Given the description of an element on the screen output the (x, y) to click on. 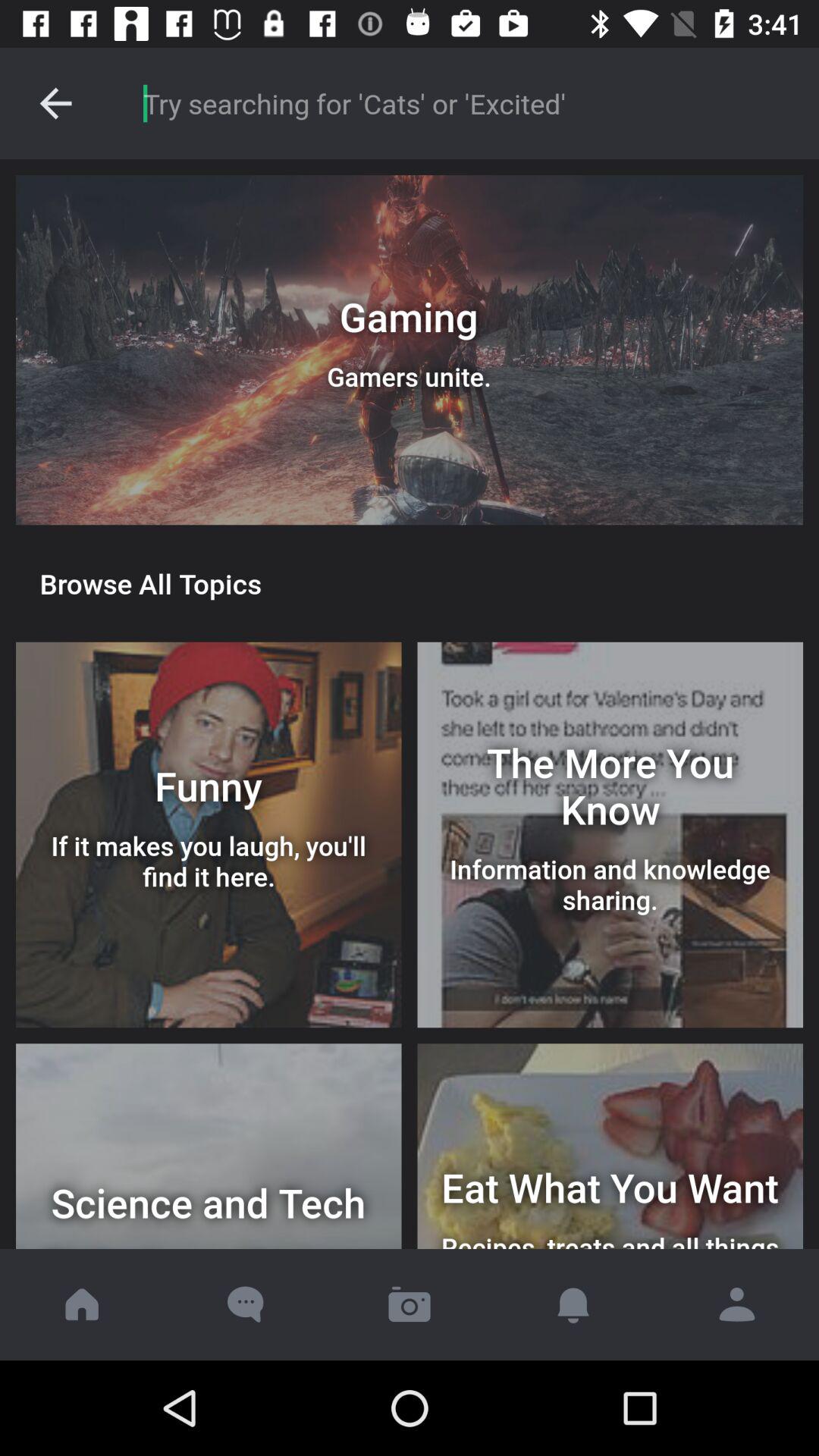
search images (465, 103)
